Given the description of an element on the screen output the (x, y) to click on. 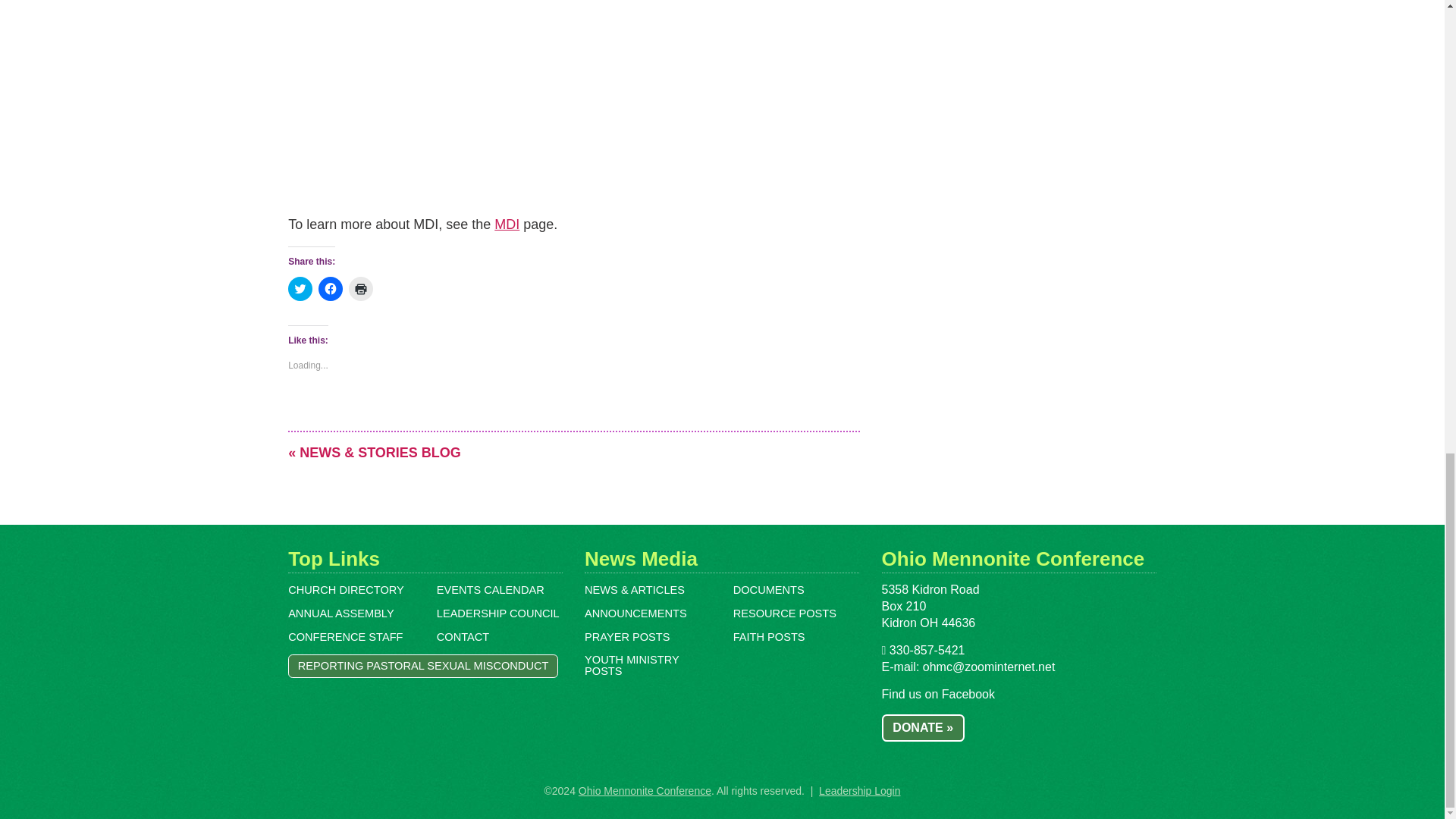
Click to print (360, 288)
Click to share on Facebook (330, 288)
Ohio Mennonite Conference (644, 790)
Click to share on Twitter (300, 288)
